Given the description of an element on the screen output the (x, y) to click on. 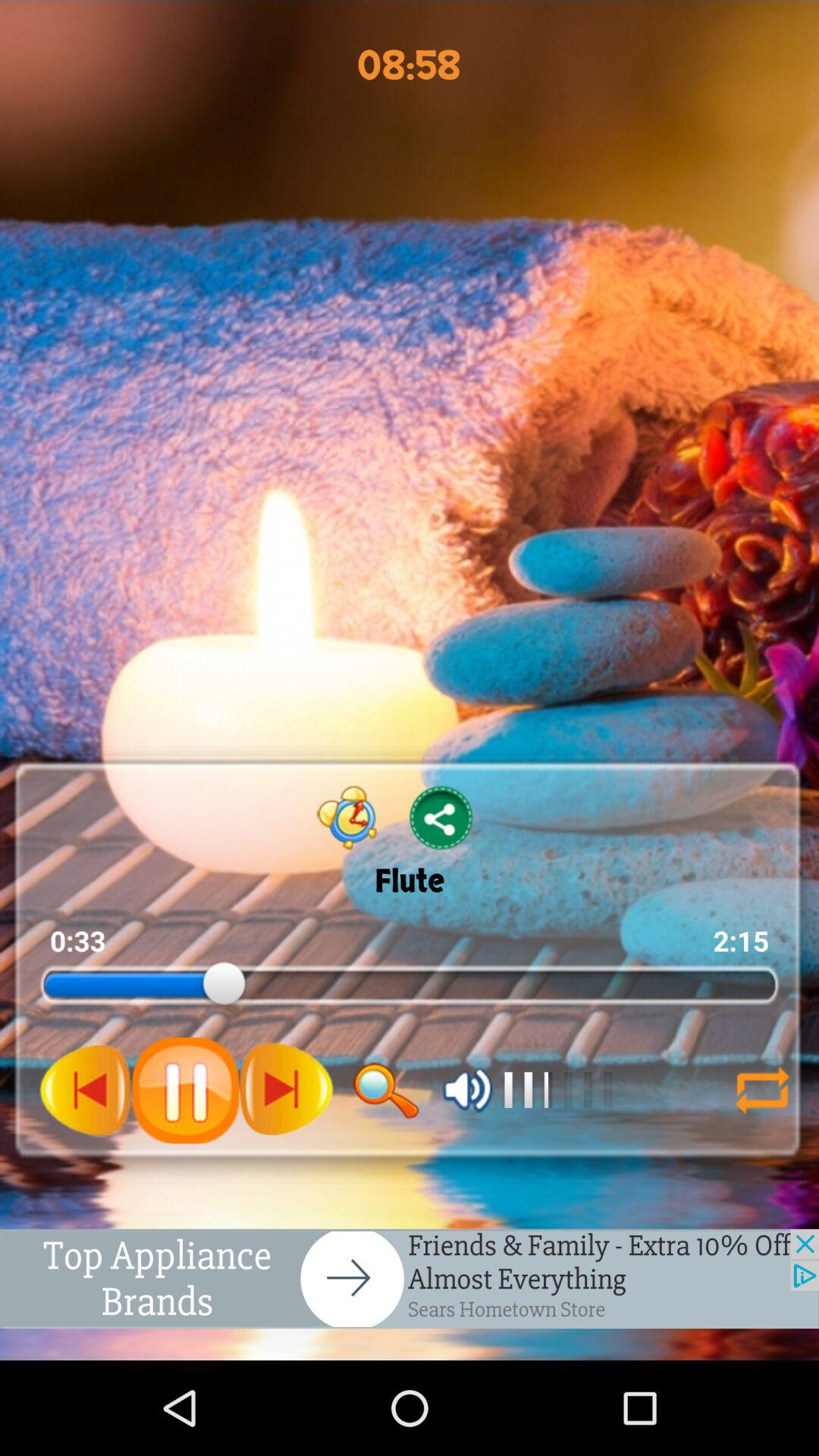
select the shuffle option (755, 1090)
